Given the description of an element on the screen output the (x, y) to click on. 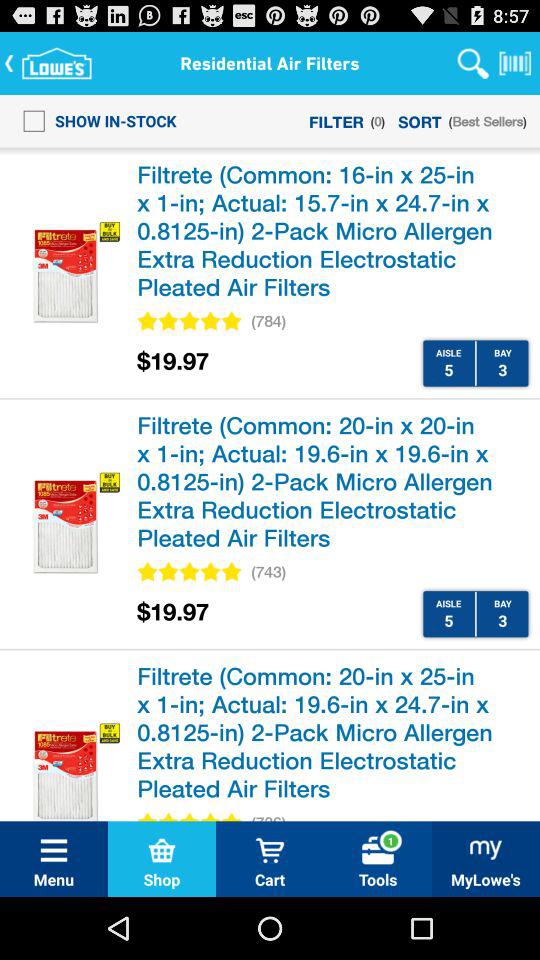
click (736) icon (268, 815)
